Given the description of an element on the screen output the (x, y) to click on. 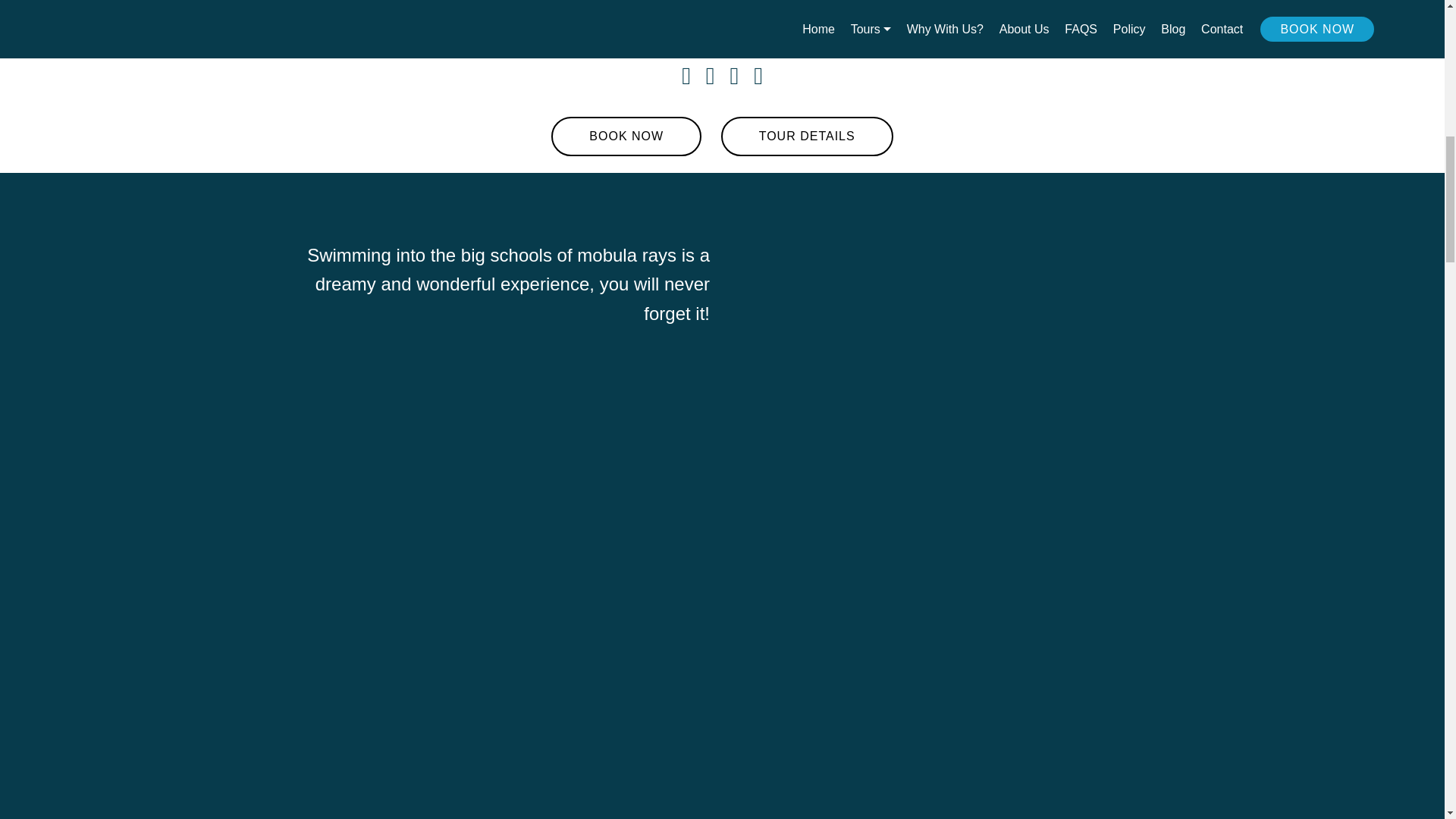
TOUR DETAILS (806, 136)
BOOK NOW (626, 136)
